Given the description of an element on the screen output the (x, y) to click on. 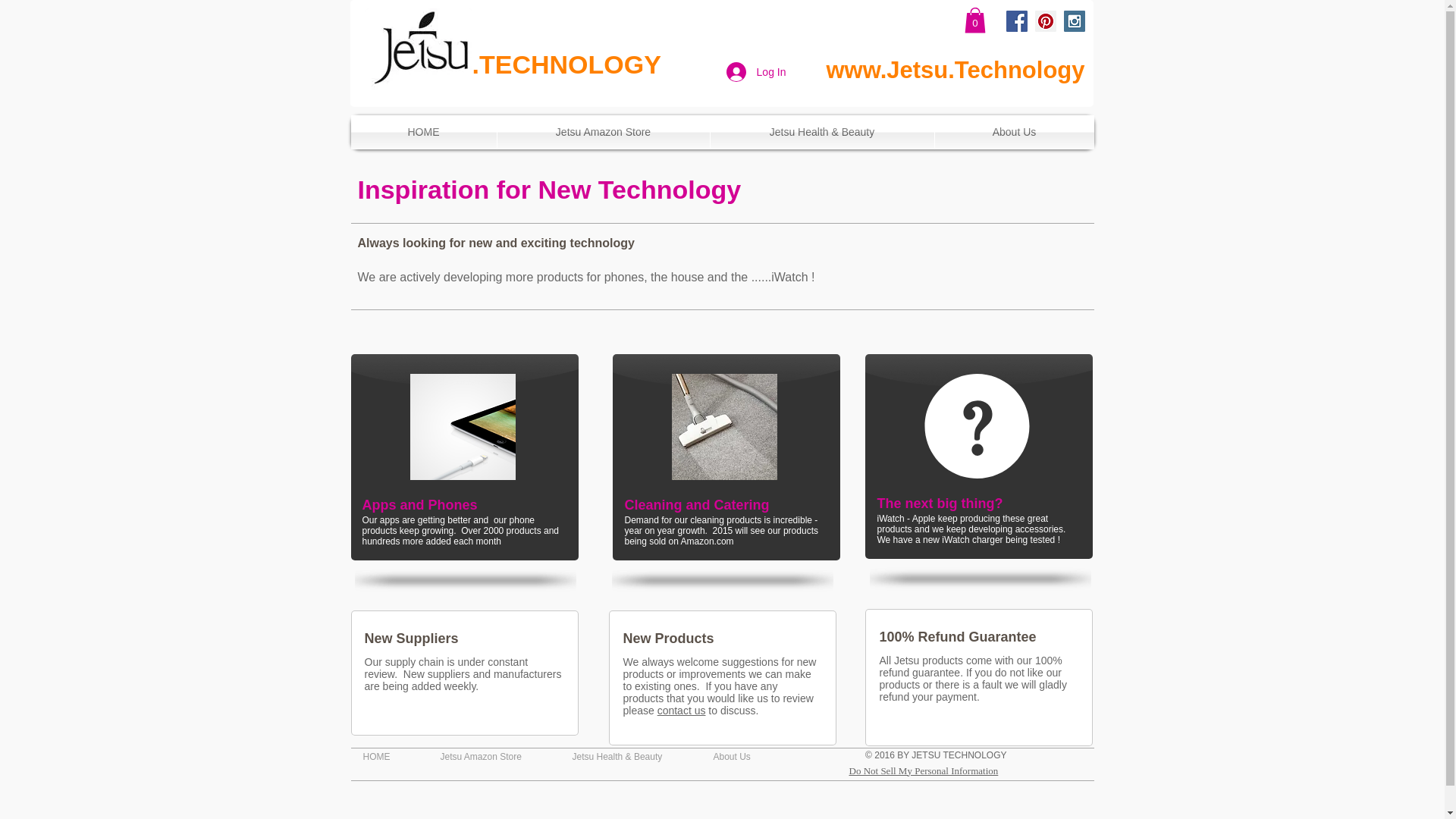
Jetsu Amazon Store (494, 756)
iPad and Charger (462, 426)
Jetsu Amazon Store (603, 132)
www.Jetsu.Technology (954, 69)
Log In (756, 71)
contact us (682, 710)
HOME (390, 756)
Do Not Sell My Personal Information (923, 771)
HOME (423, 132)
About Us (1013, 132)
